Given the description of an element on the screen output the (x, y) to click on. 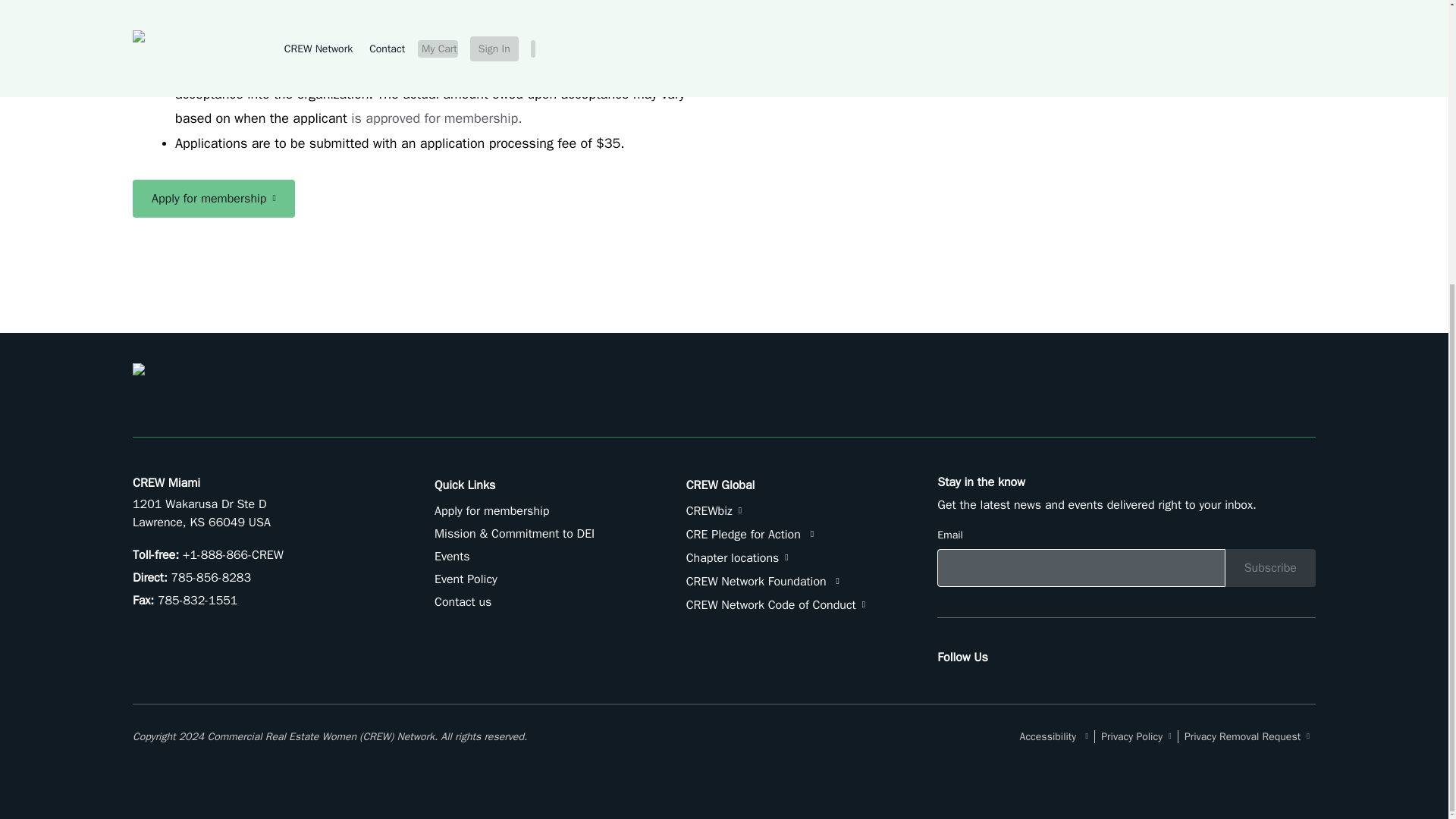
Apply for membership (490, 510)
CREW Network Foundation (762, 581)
Privacy Policy (1135, 736)
Contact us (462, 601)
Events (451, 556)
Privacy Removal Request (1246, 736)
Event Policy (465, 579)
Accessibility (1058, 736)
Apply for membership (213, 198)
CREWbiz (713, 510)
